Given the description of an element on the screen output the (x, y) to click on. 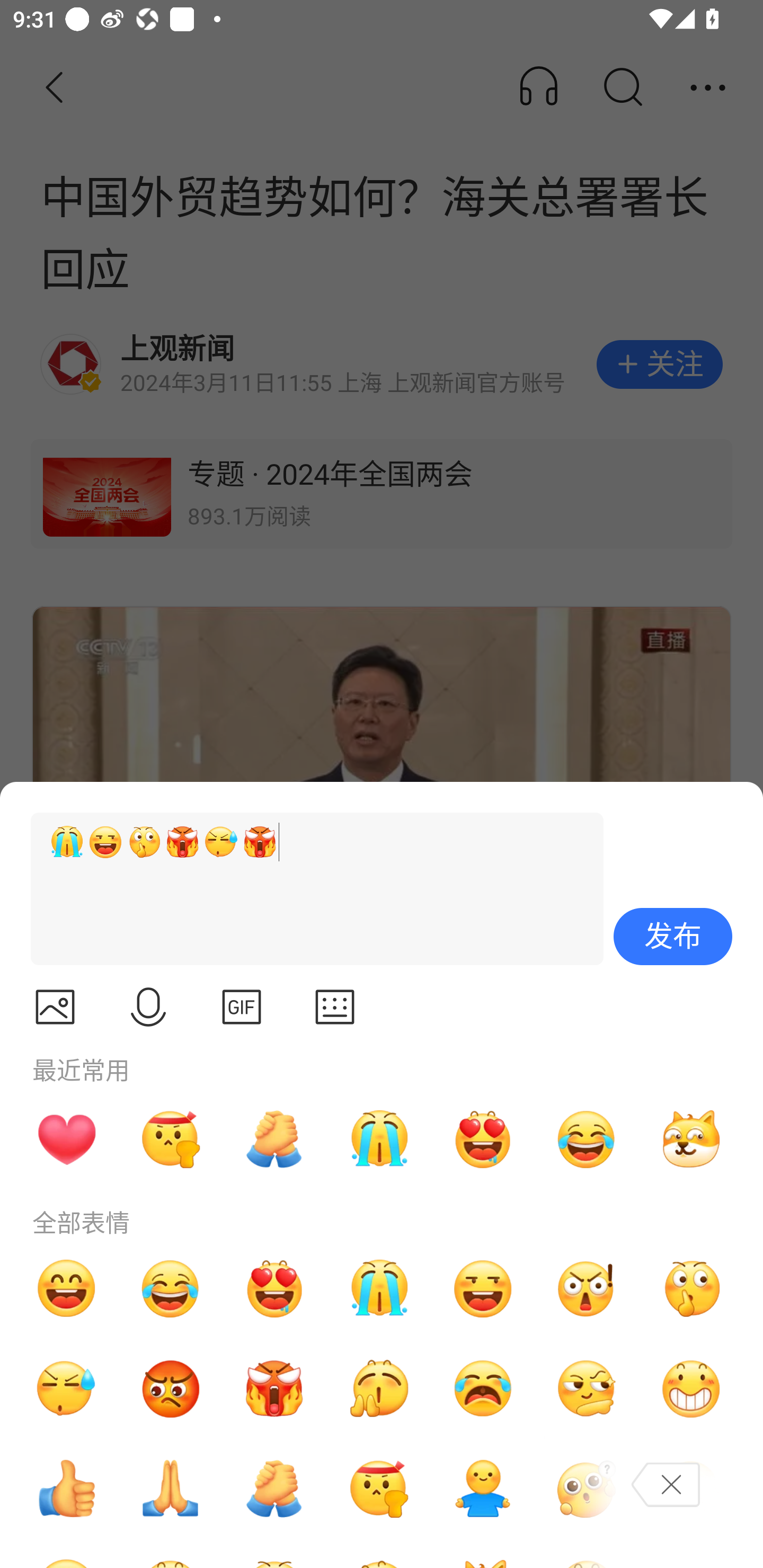
[哭][嘿嘿][嘘][愤怒][汗][愤怒] (308, 888)
发布 (672, 936)
 (54, 1007)
 (148, 1007)
 (241, 1007)
 (334, 1007)
心 (66, 1138)
奋斗 (170, 1138)
加油 (274, 1138)
哭 (378, 1138)
喜欢 (482, 1138)
哭笑 (586, 1138)
奸笑 (690, 1138)
哈哈 (66, 1288)
哭笑 (170, 1288)
喜欢 (274, 1288)
哭 (378, 1288)
嘿嘿 (482, 1288)
吃惊 (586, 1288)
嘘 (690, 1288)
汗 (66, 1389)
生气 (170, 1389)
愤怒 (274, 1389)
喝彩 (378, 1389)
抓狂 (482, 1389)
机智 (586, 1389)
坏笑 (690, 1389)
点赞 (66, 1488)
缅怀 (170, 1488)
加油 (274, 1488)
奋斗 (378, 1488)
抱抱 (482, 1488)
疑问 (586, 1488)
捂脸 (690, 1488)
